Given the description of an element on the screen output the (x, y) to click on. 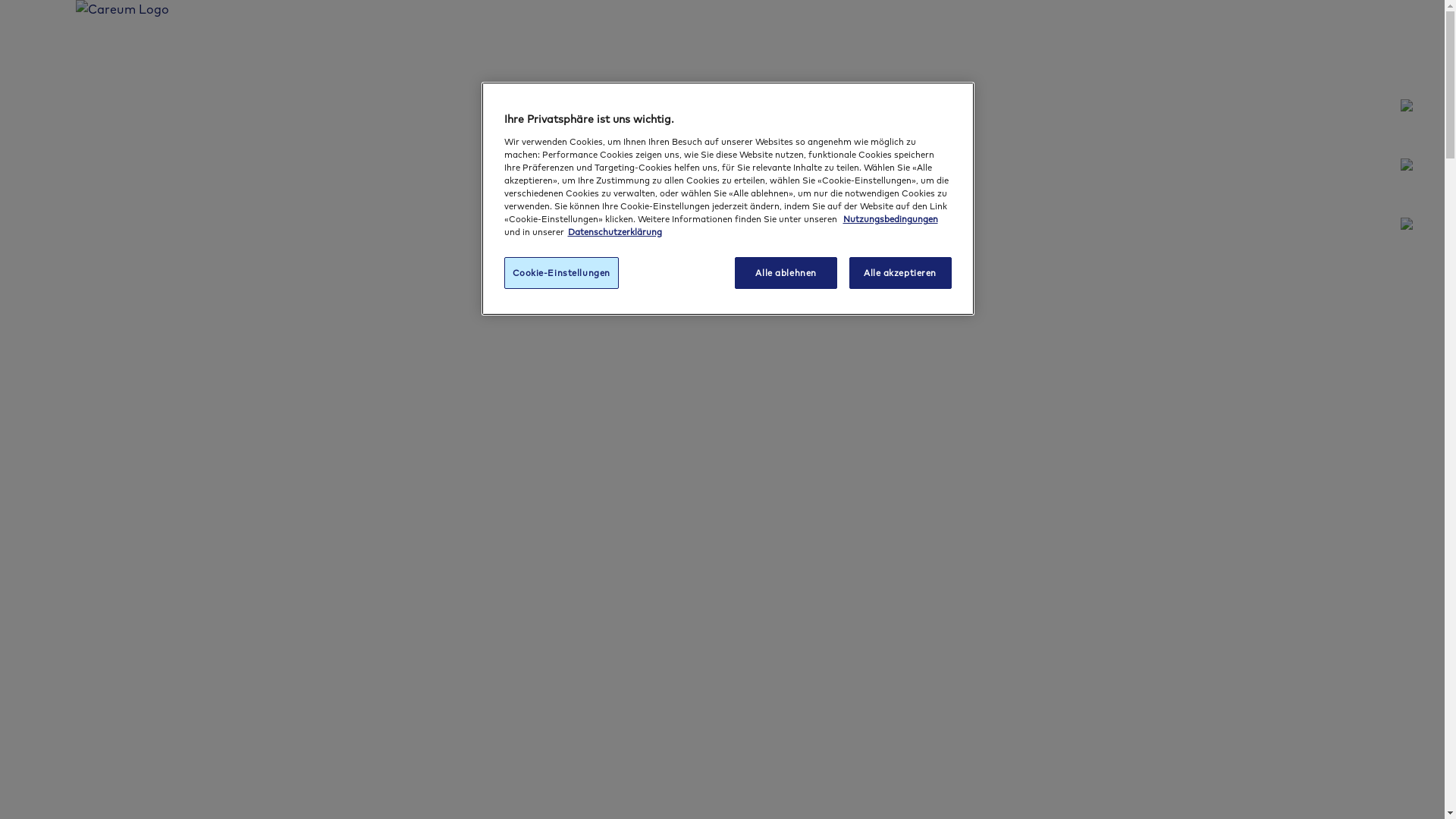
Nutzungsbedingungen Element type: text (890, 218)
Alle ablehnen Element type: text (785, 272)
Alle akzeptieren Element type: text (900, 272)
Cookie-Einstellungen Element type: text (560, 272)
